Given the description of an element on the screen output the (x, y) to click on. 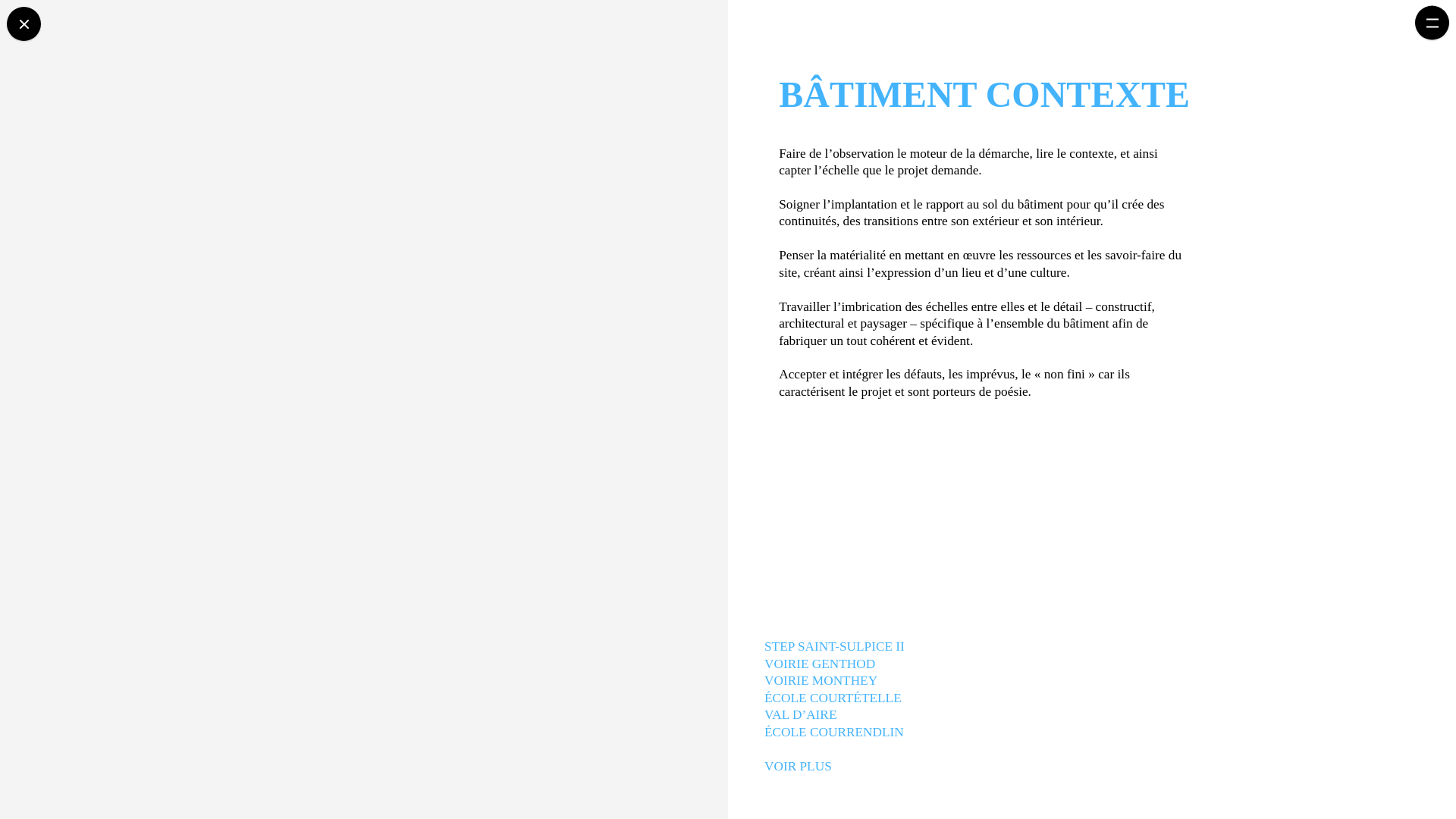
VOIRIE MONTHEY Element type: text (821, 681)
VOIR PLUS Element type: text (798, 766)
VOIRIE GENTHOD Element type: text (820, 663)
STEP SAINT-SULPICE II Element type: text (835, 647)
